Given the description of an element on the screen output the (x, y) to click on. 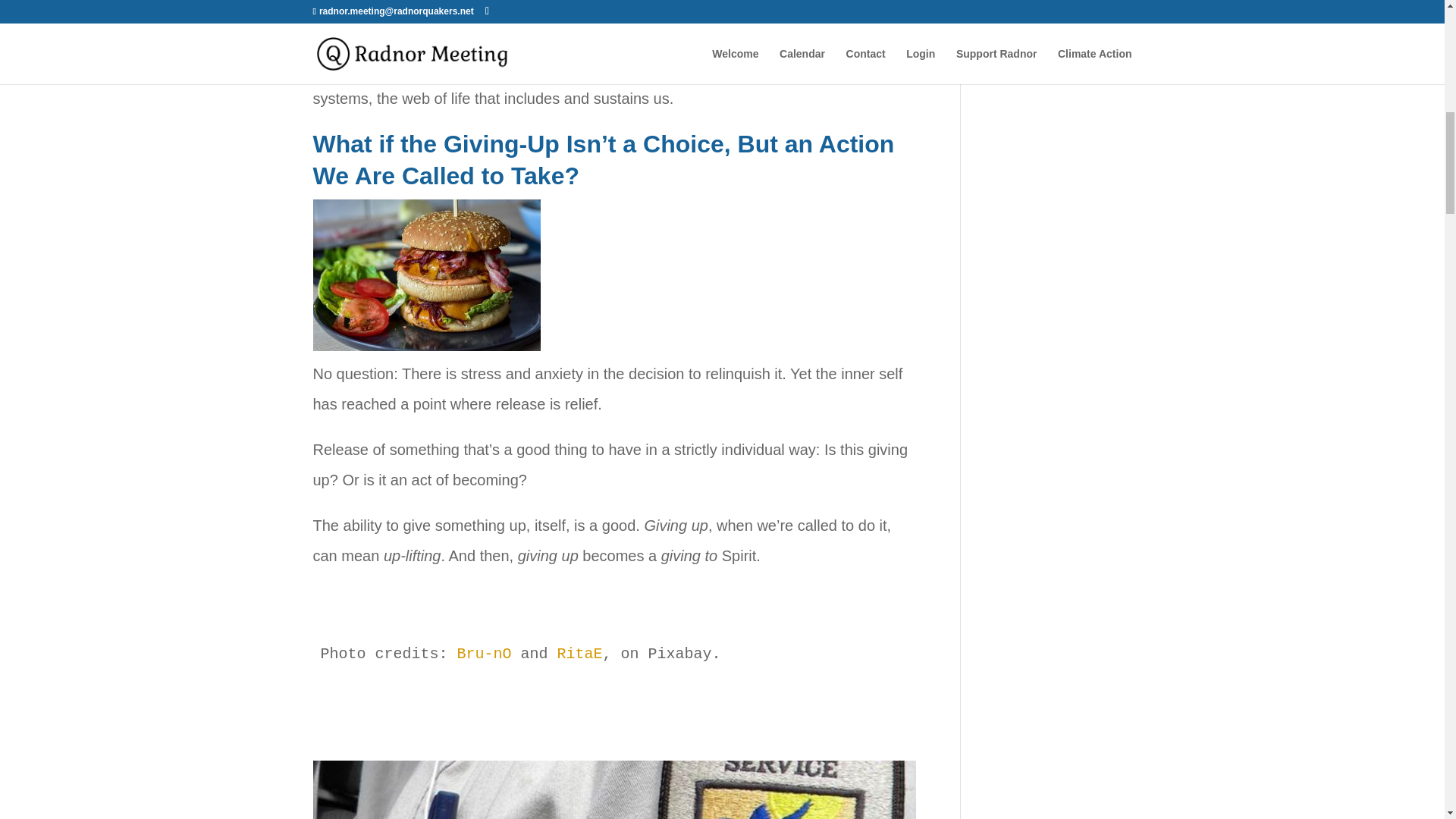
RitaE (579, 653)
Bru-nO (484, 653)
